Given the description of an element on the screen output the (x, y) to click on. 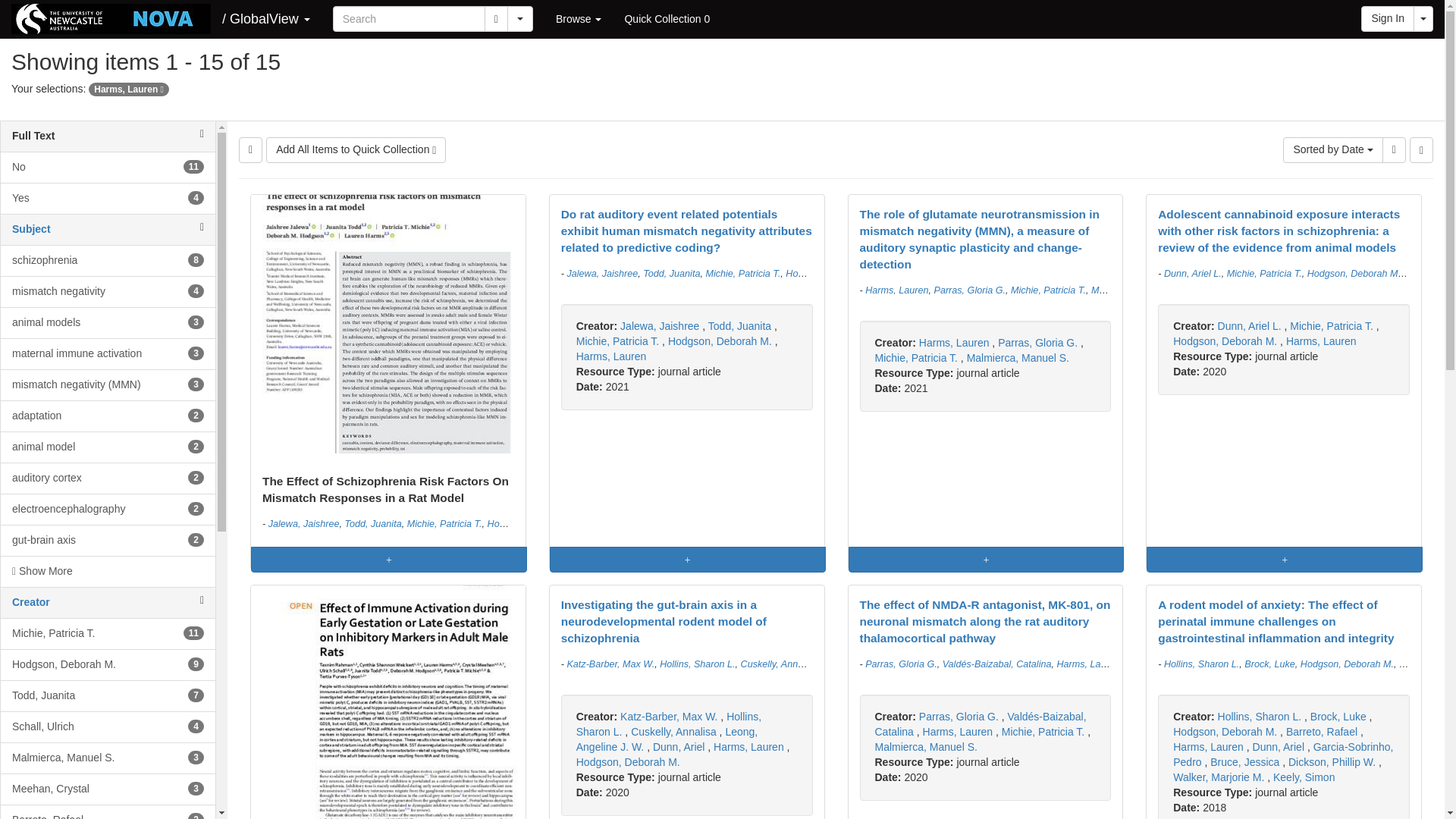
Browse (108, 291)
Search (578, 18)
Sign In (108, 197)
Harms, Lauren (496, 18)
GlobalView (1387, 18)
Quick Collection 0 (108, 354)
